Given the description of an element on the screen output the (x, y) to click on. 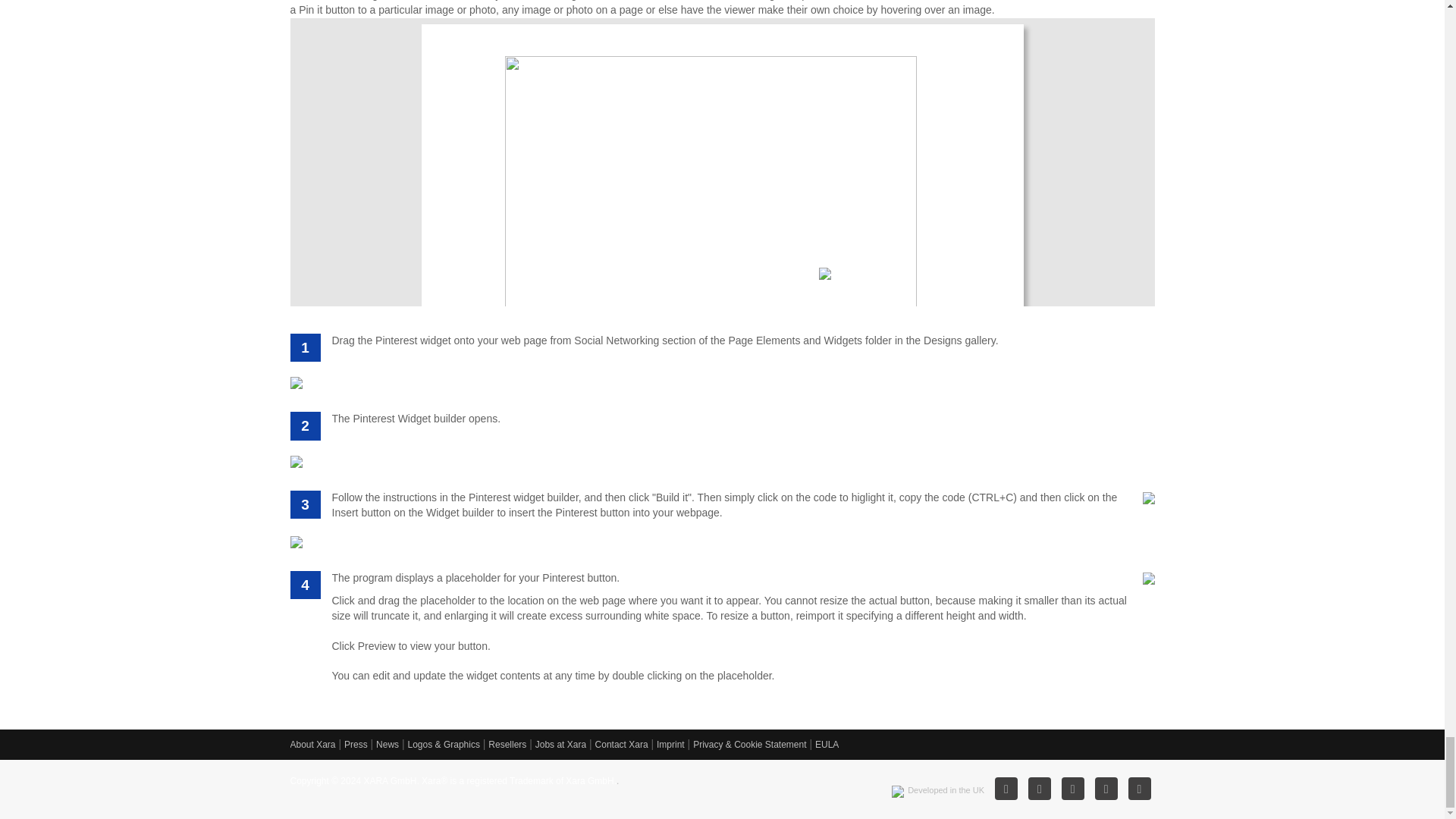
RSS (1039, 788)
YouTube (1139, 788)
Twitter (1106, 788)
Sitemap (1005, 788)
Facebook (1072, 788)
